Given the description of an element on the screen output the (x, y) to click on. 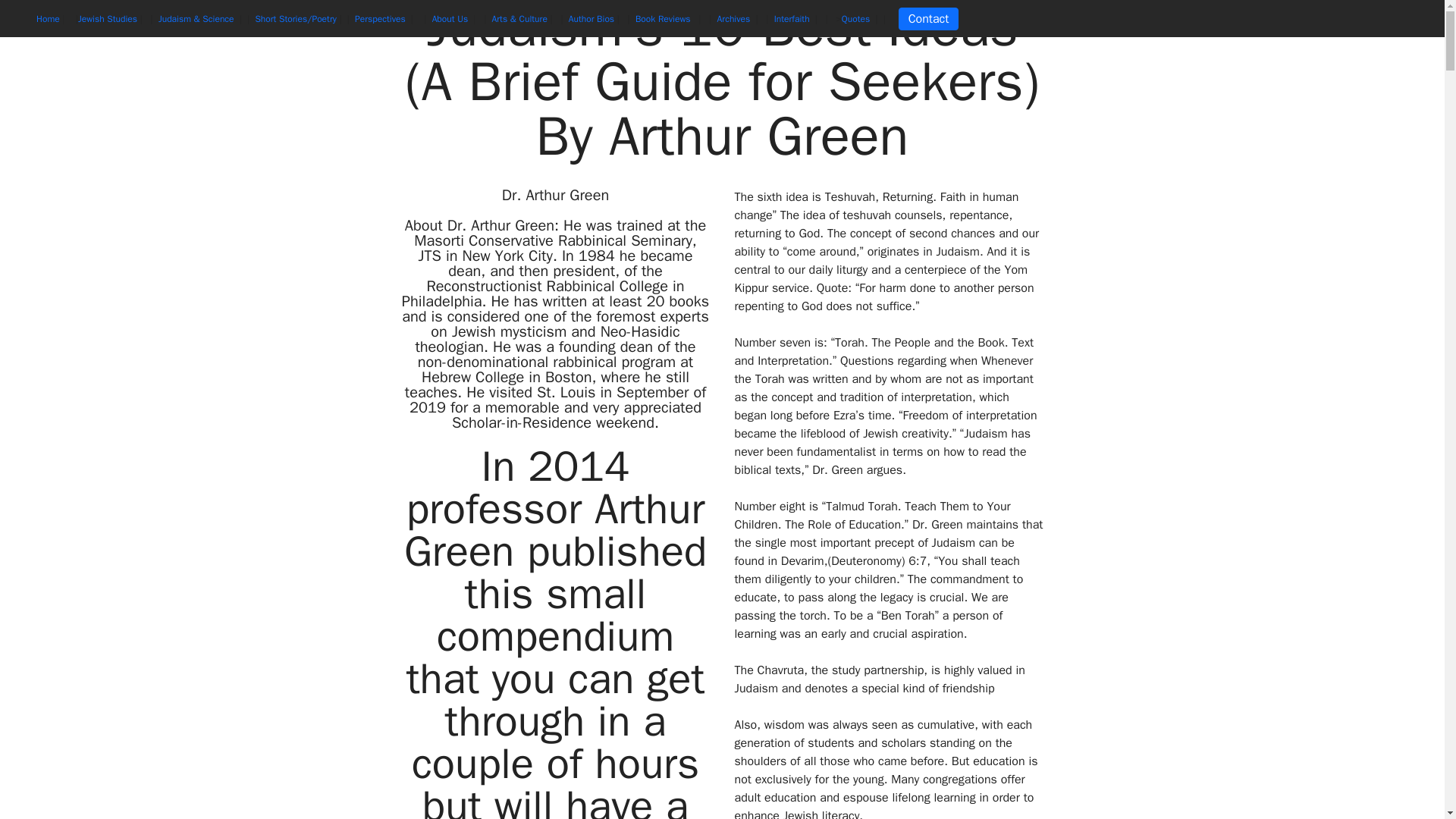
Jewish Studies (107, 19)
Home (47, 19)
Contact (928, 18)
Quotes  (856, 19)
Book Reviews   (664, 19)
About Us  (451, 19)
Archives  (734, 19)
Interfaith  (793, 19)
Author Bios (591, 19)
Perspectives  (381, 19)
